Given the description of an element on the screen output the (x, y) to click on. 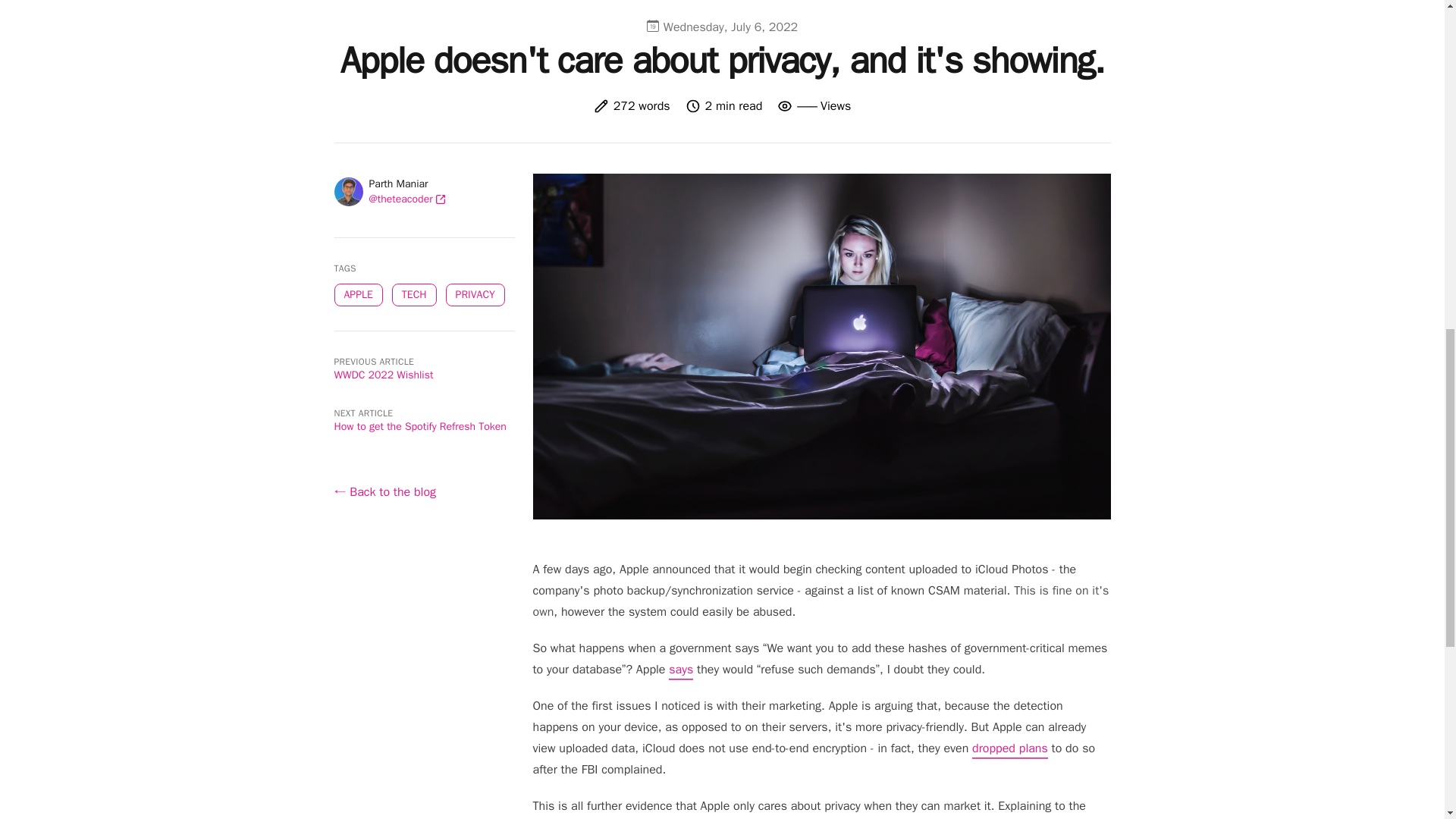
PRIVACY (475, 294)
dropped plans (1010, 750)
APPLE (357, 294)
How to get the Spotify Refresh Token (419, 426)
says (680, 670)
TECH (413, 294)
WWDC 2022 Wishlist (382, 374)
